Given the description of an element on the screen output the (x, y) to click on. 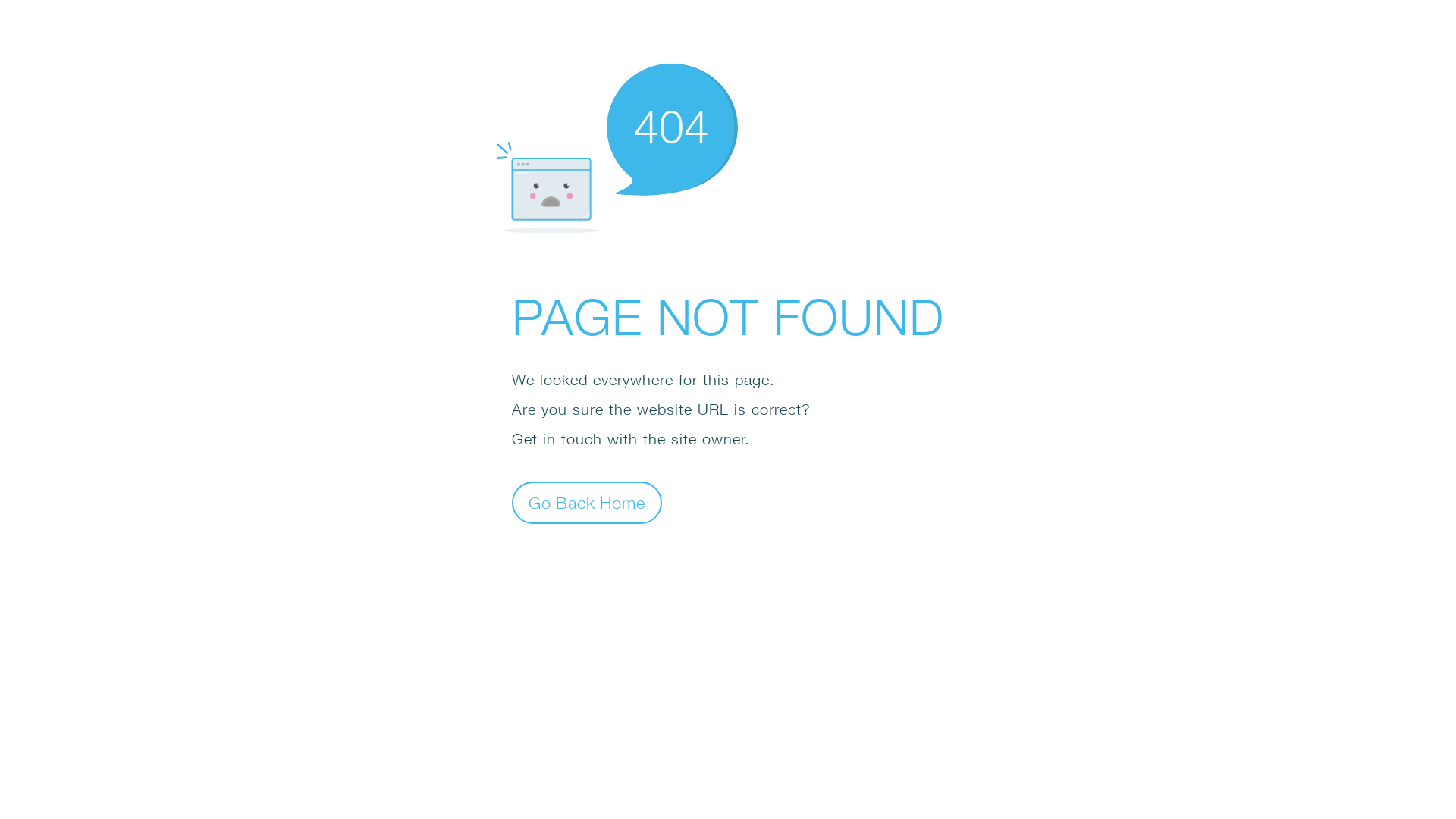
Go Back Home Element type: text (586, 502)
